Given the description of an element on the screen output the (x, y) to click on. 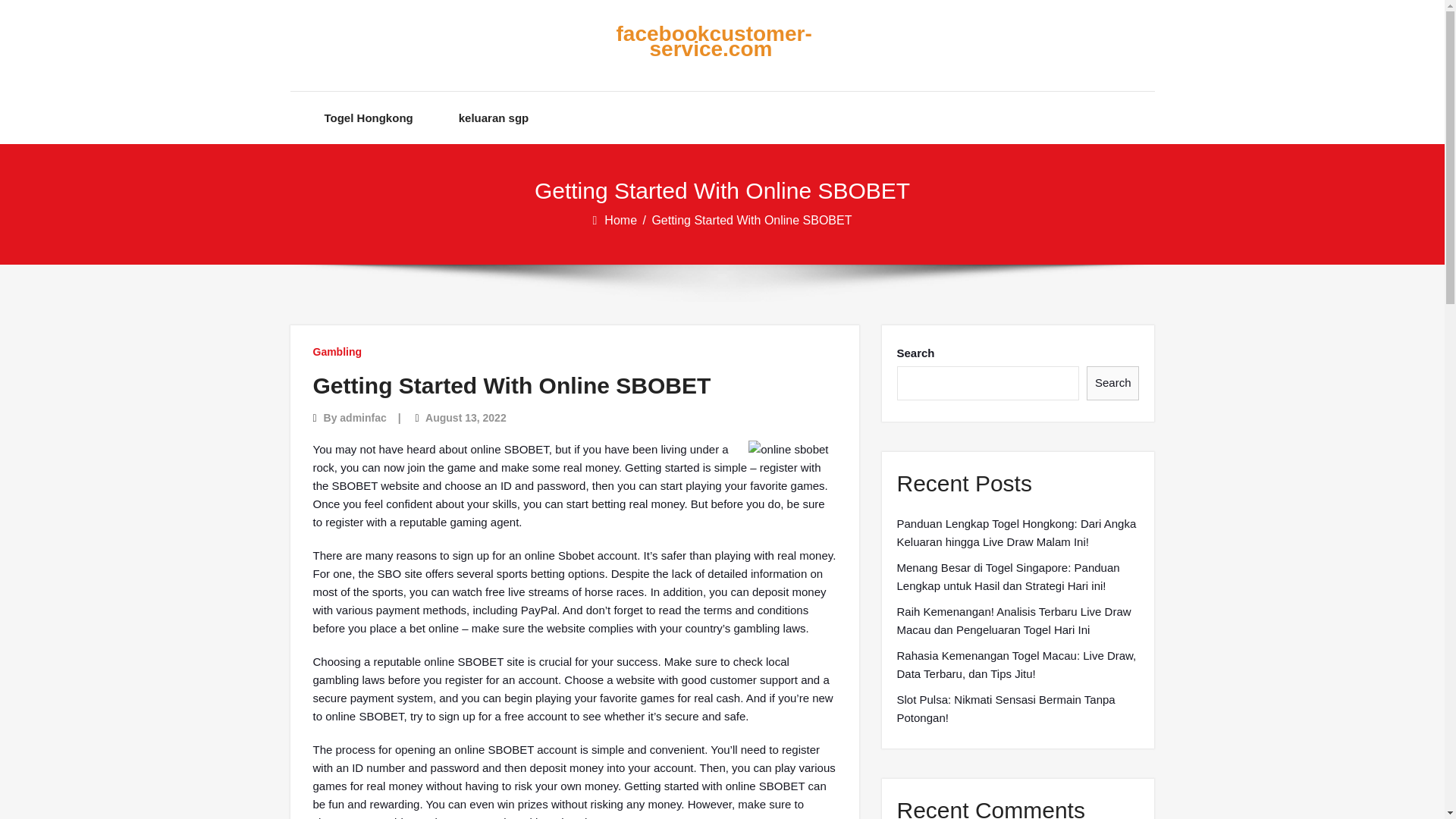
Togel Hongkong (368, 117)
Home (621, 219)
Search (1113, 383)
Gambling (337, 351)
keluaran sgp (493, 117)
Slot Pulsa: Nikmati Sensasi Bermain Tanpa Potongan! (1017, 709)
